Given the description of an element on the screen output the (x, y) to click on. 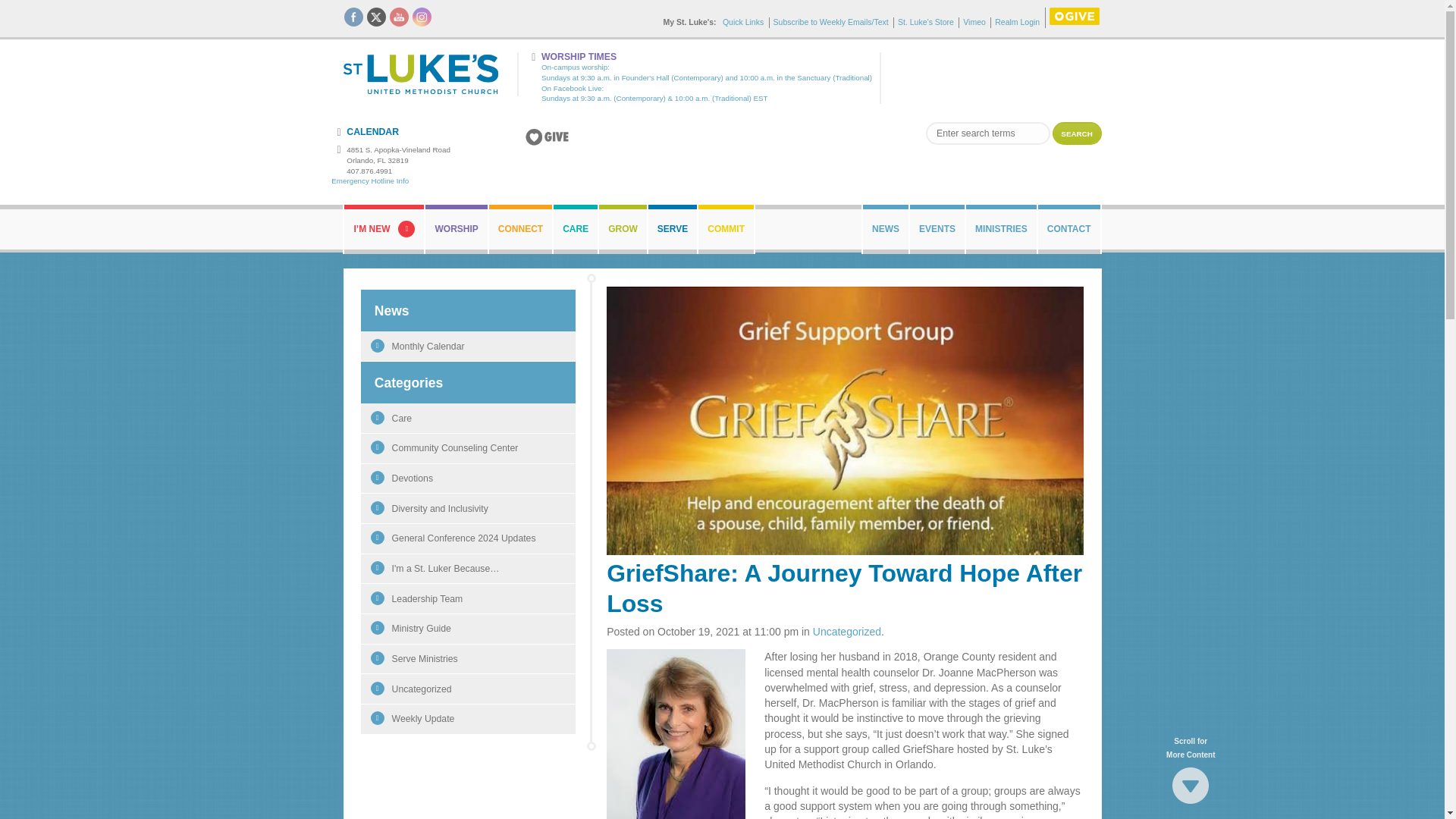
Twitter (376, 16)
WORSHIP (455, 228)
Instagram (421, 17)
CONNECT (520, 228)
YouTube (398, 17)
Facebook (352, 17)
SEARCH (1077, 133)
Emergency Hotline Info (370, 180)
CALENDAR (364, 131)
